Given the description of an element on the screen output the (x, y) to click on. 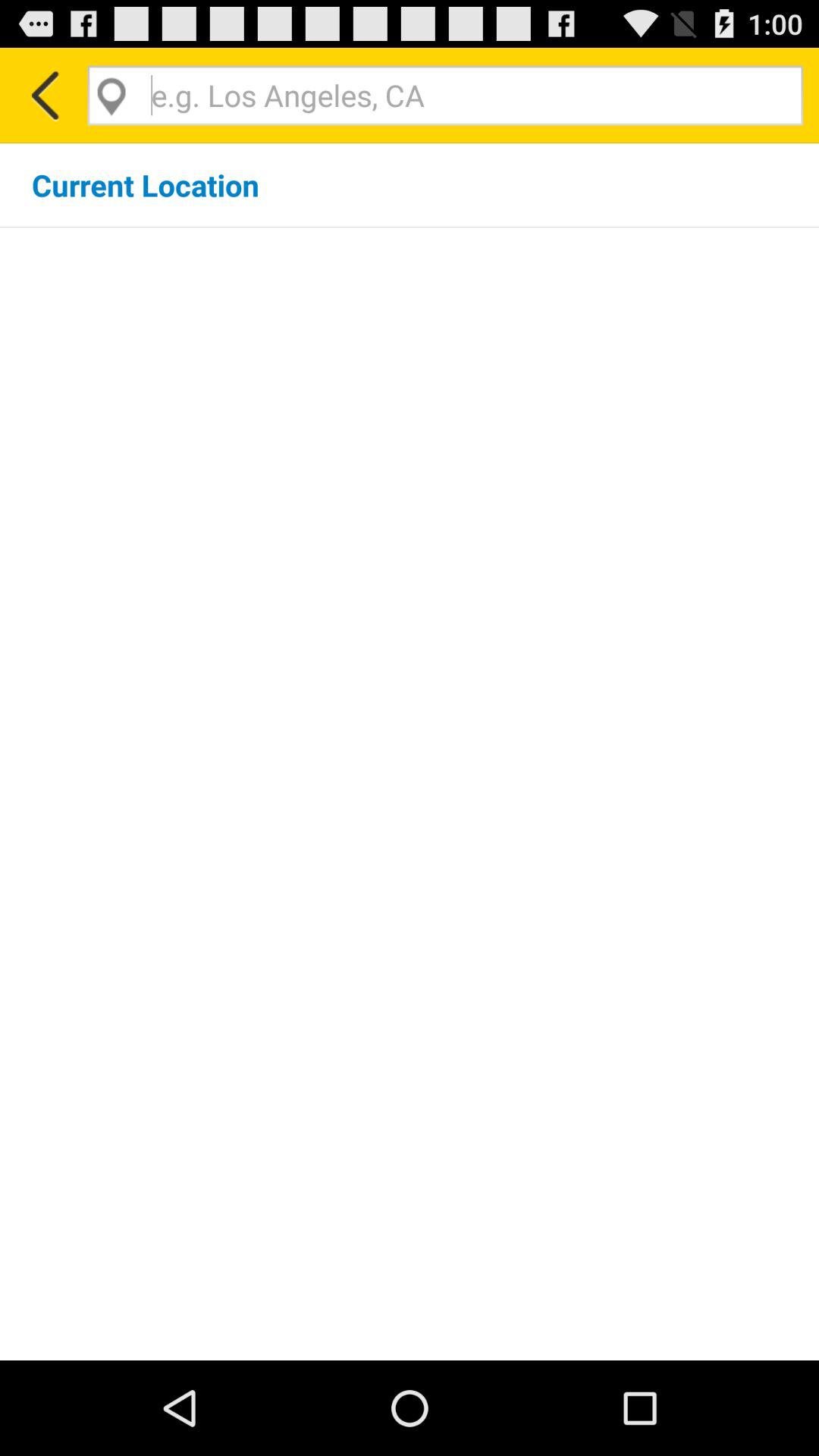
a button for going back (43, 95)
